Given the description of an element on the screen output the (x, y) to click on. 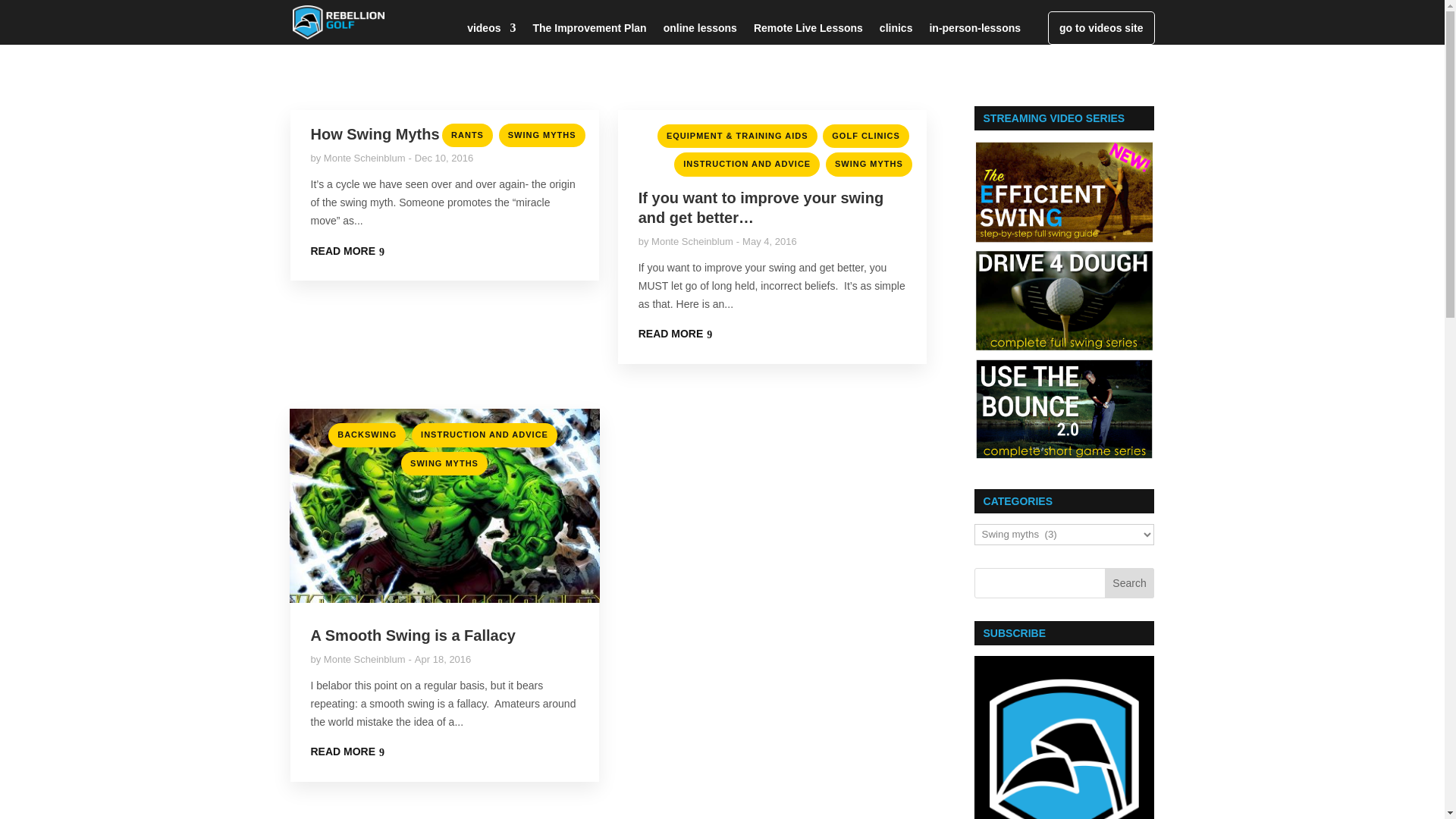
Search (1129, 583)
clinics (895, 33)
Remote Live Lessons (808, 33)
Posts by Monte Scheinblum (364, 157)
videos (491, 33)
How Swing Myths Grow (397, 134)
The Efficient Swing (1064, 191)
RANTS (467, 135)
online lessons (699, 33)
Drive 4 Dough (1064, 300)
Posts by Monte Scheinblum (364, 659)
Use the Bounce 2.0 (1064, 408)
GOLF CLINICS (865, 136)
Monte Scheinblum (364, 157)
in-person-lessons (974, 33)
